Given the description of an element on the screen output the (x, y) to click on. 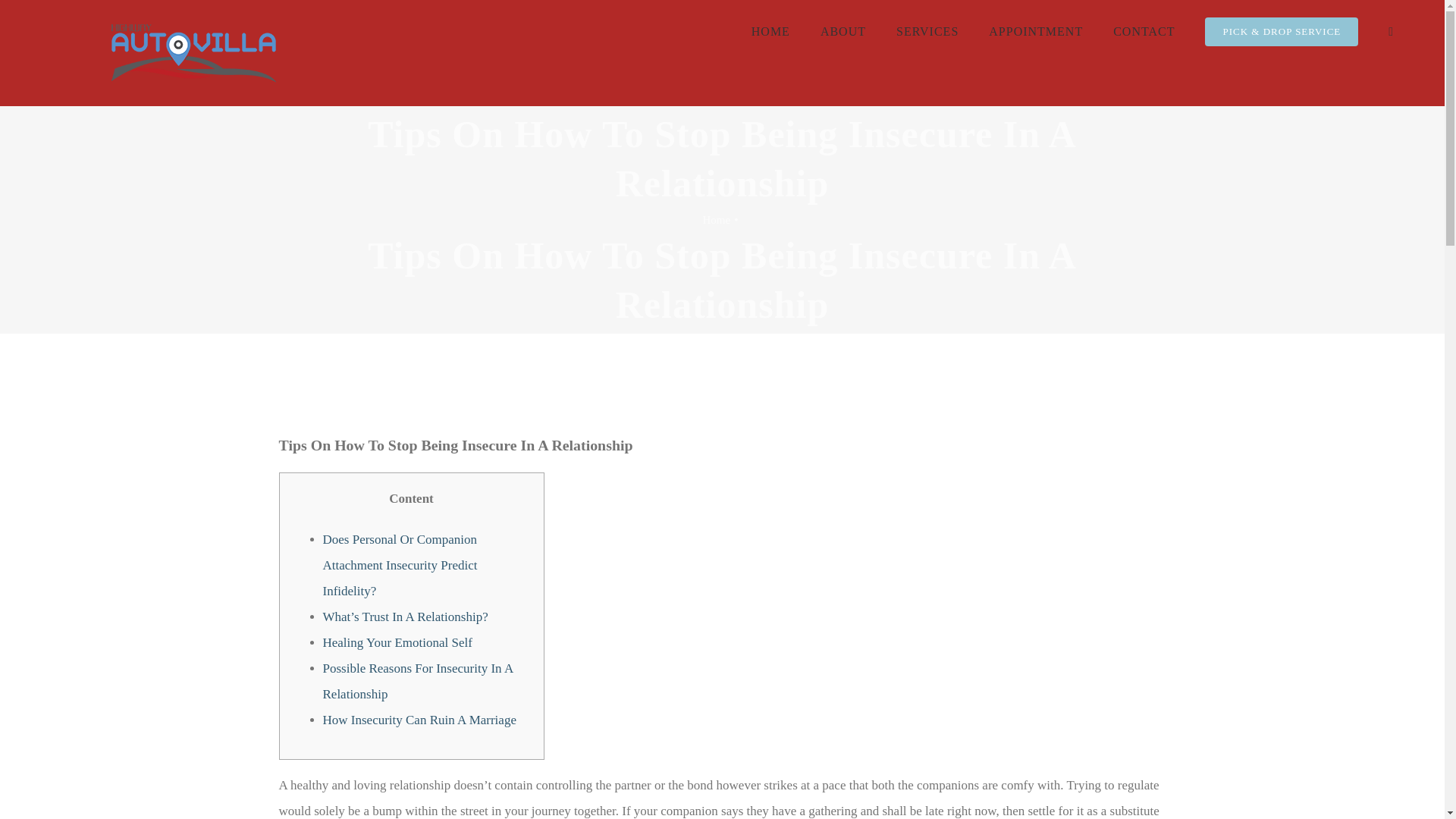
HOME (770, 31)
Home (716, 219)
APPOINTMENT (1035, 31)
How Insecurity Can Ruin A Marriage (419, 719)
ABOUT (843, 31)
CONTACT (1143, 31)
SERVICES (927, 31)
Healing Your Emotional Self (397, 642)
Possible Reasons For Insecurity In A Relationship (418, 680)
